Given the description of an element on the screen output the (x, y) to click on. 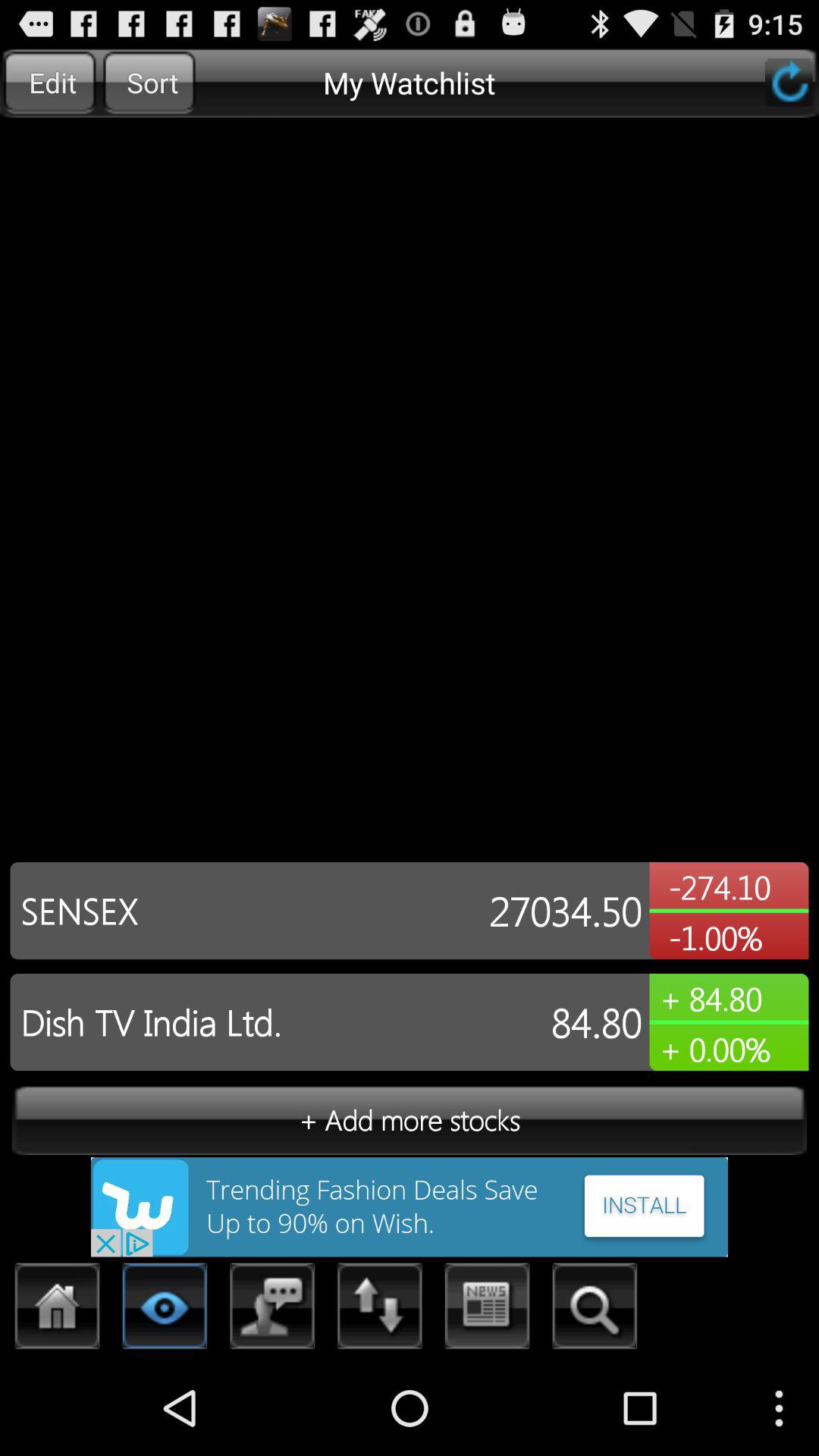
reload updated (788, 82)
